Given the description of an element on the screen output the (x, y) to click on. 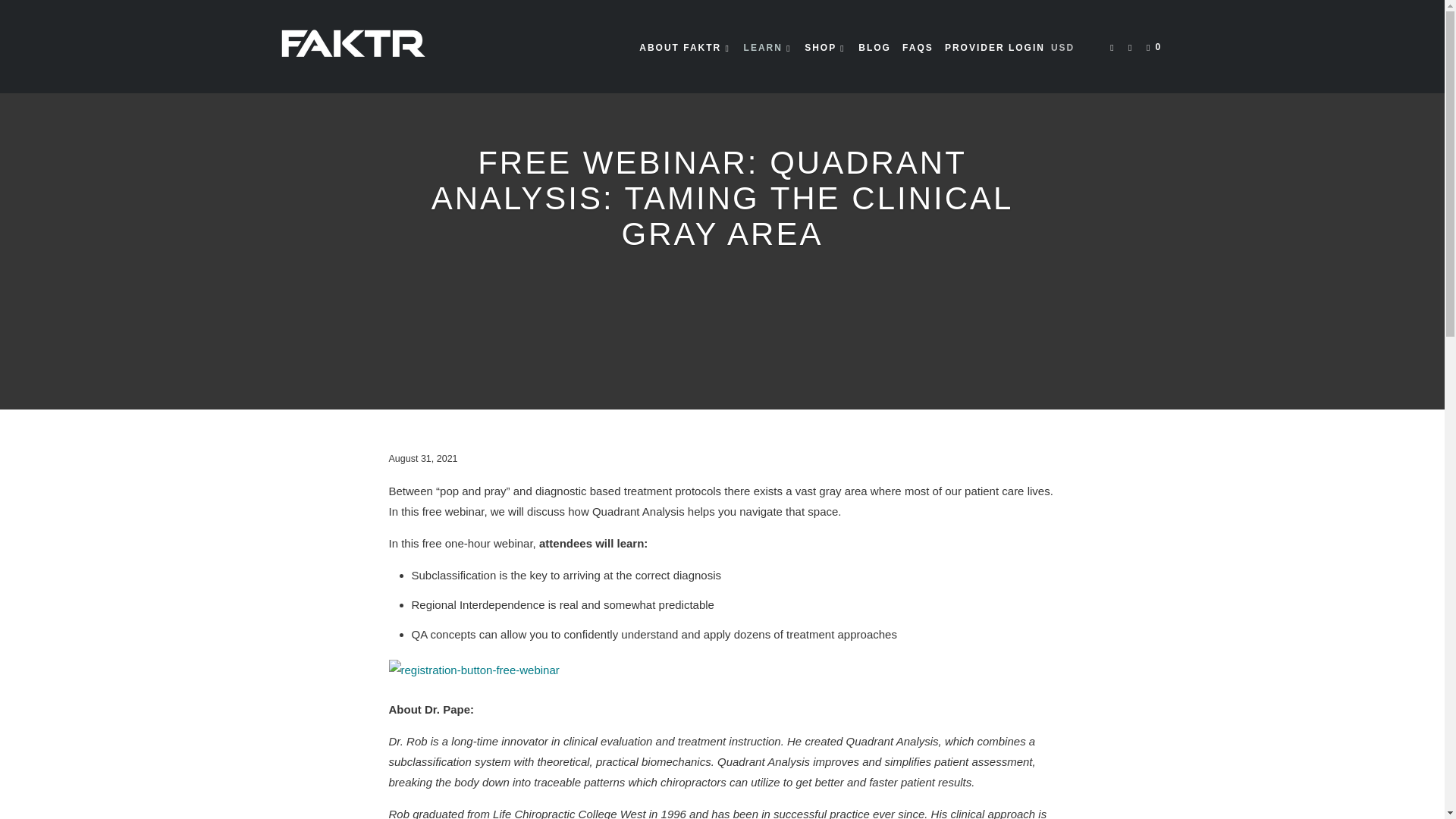
ABOUT FAKTR (685, 47)
LEARN (768, 47)
0 (1154, 47)
FAKTR Online Store (352, 46)
Quadrant Analysis Webinar Registration (473, 669)
